Given the description of an element on the screen output the (x, y) to click on. 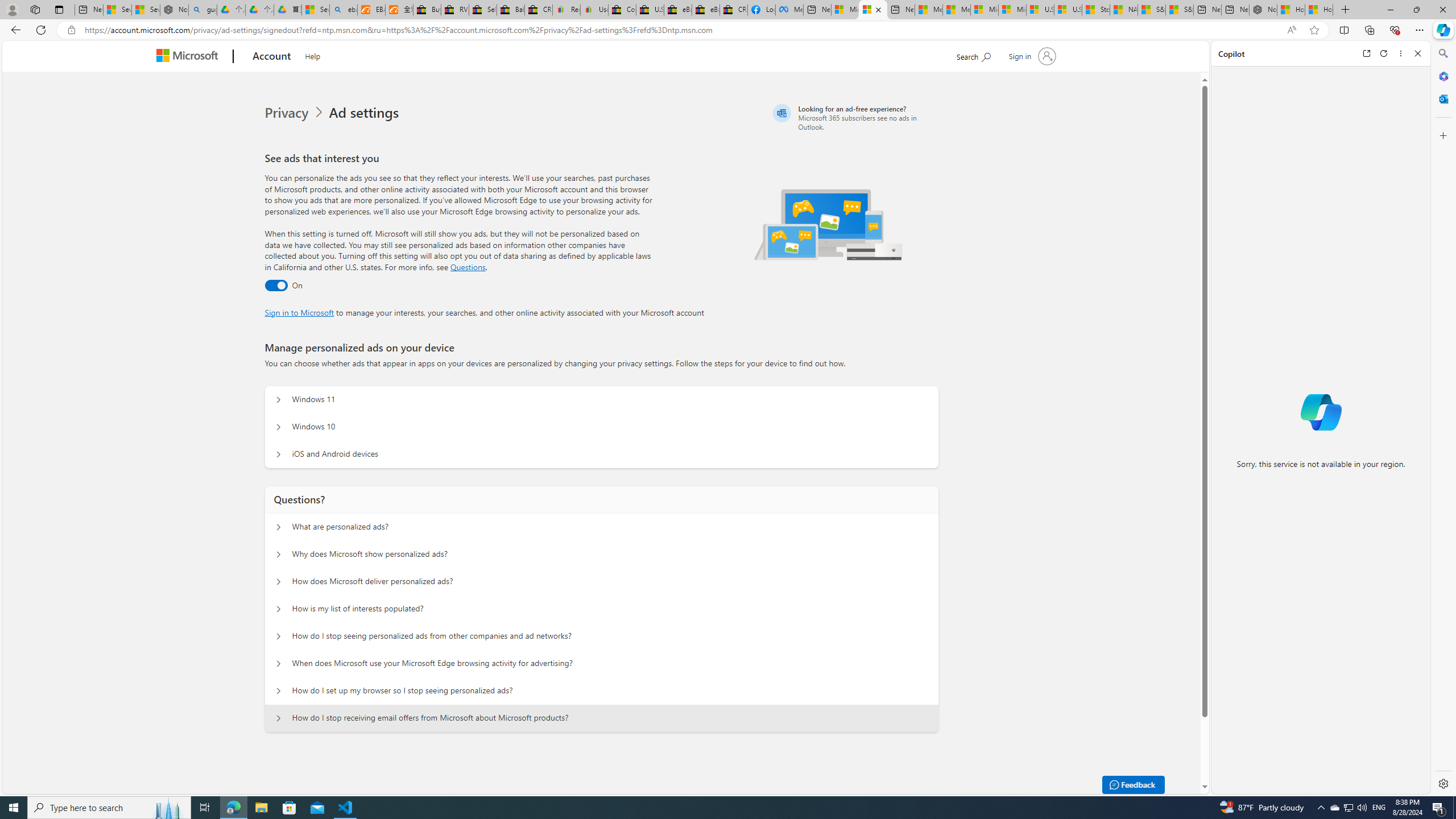
User Privacy Notice | eBay (593, 9)
Minimize (1390, 9)
Go to Questions section (467, 266)
Back (13, 29)
Privacy (287, 112)
Questions? How does Microsoft deliver personalized ads? (278, 581)
More options (1401, 53)
ebay - Search (343, 9)
